Given the description of an element on the screen output the (x, y) to click on. 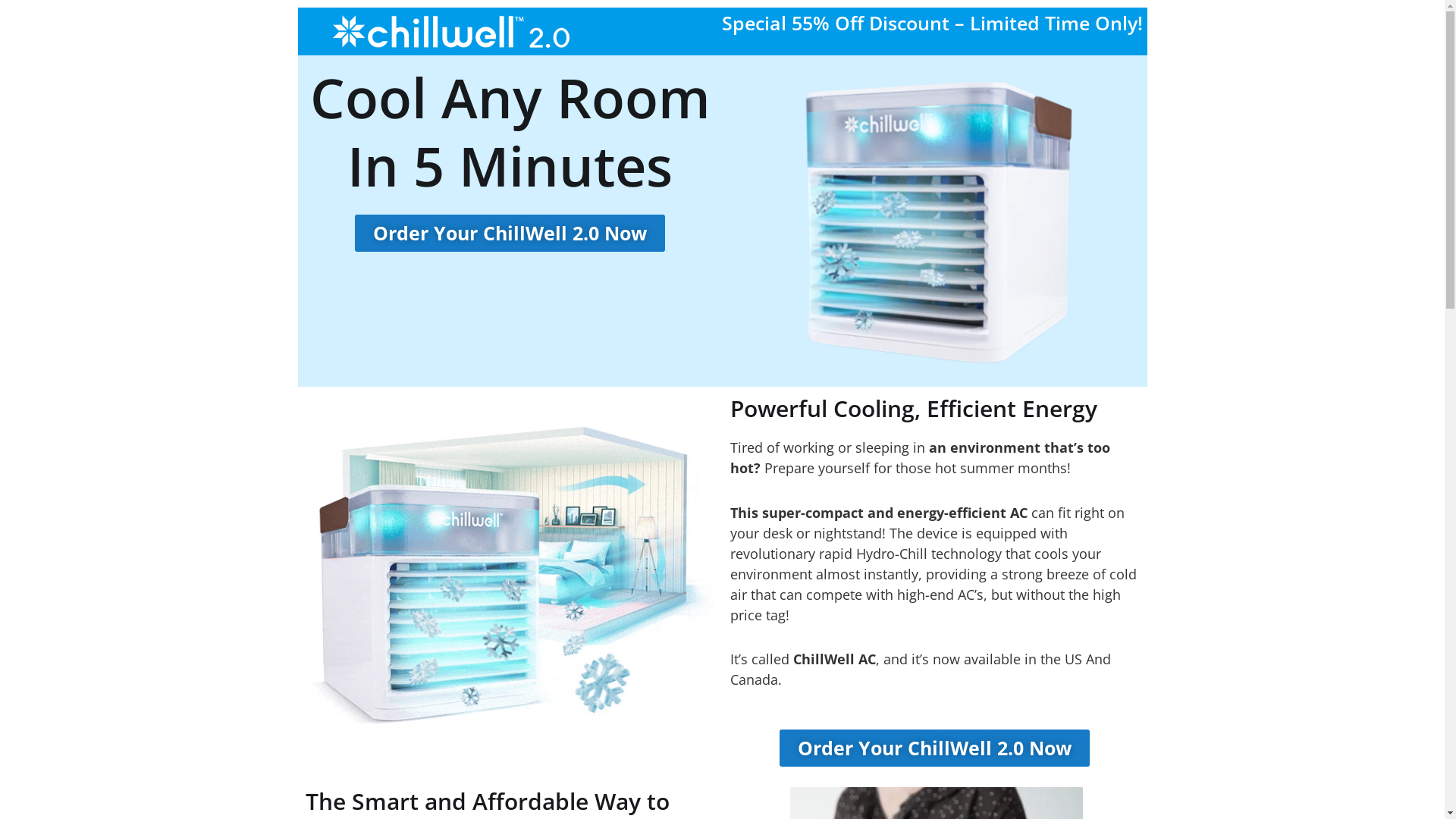
Order Your ChillWell 2.0 Now Element type: text (509, 232)
Order Your ChillWell 2.0 Now Element type: text (934, 747)
